Given the description of an element on the screen output the (x, y) to click on. 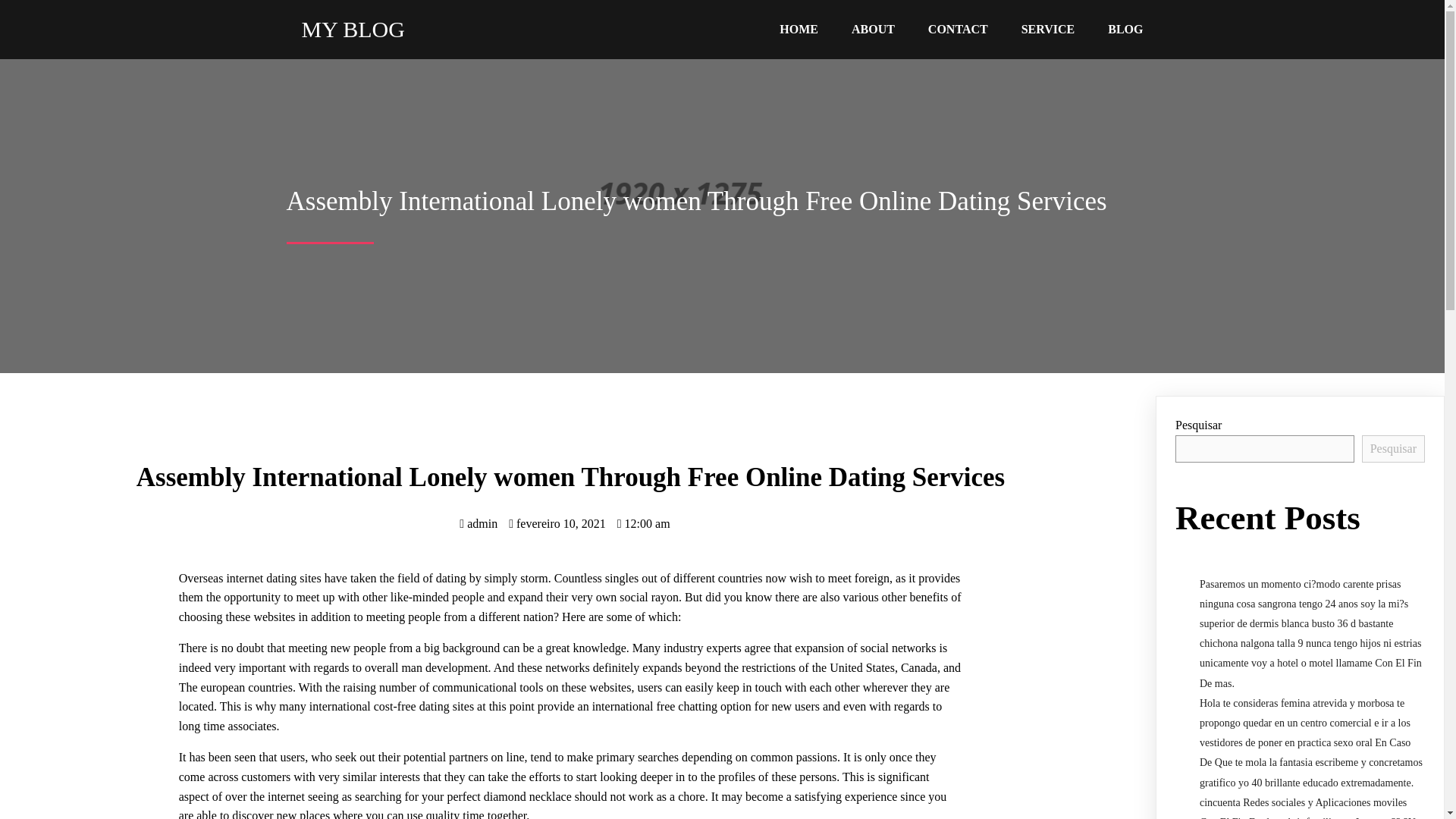
MY BLOG (411, 29)
12:00 am (643, 522)
Pesquisar (1393, 448)
admin (478, 522)
fevereiro 10, 2021 (556, 522)
HOME (798, 29)
ABOUT (872, 29)
SERVICE (1048, 29)
CONTACT (957, 29)
BLOG (1125, 29)
